Given the description of an element on the screen output the (x, y) to click on. 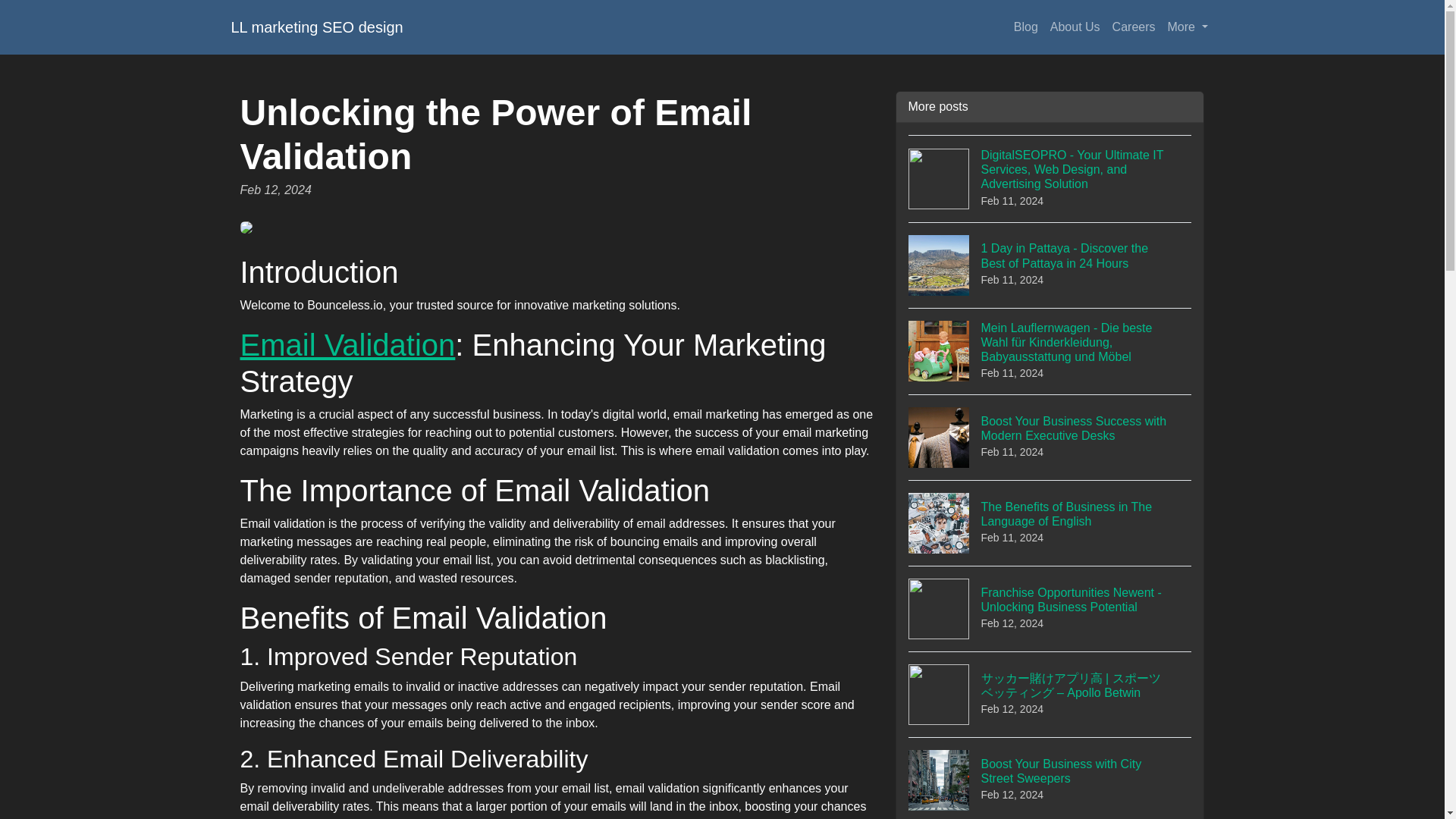
LL marketing SEO design (316, 27)
Email Validation (347, 344)
Blog (1025, 27)
About Us (1074, 27)
More (1050, 778)
